Given the description of an element on the screen output the (x, y) to click on. 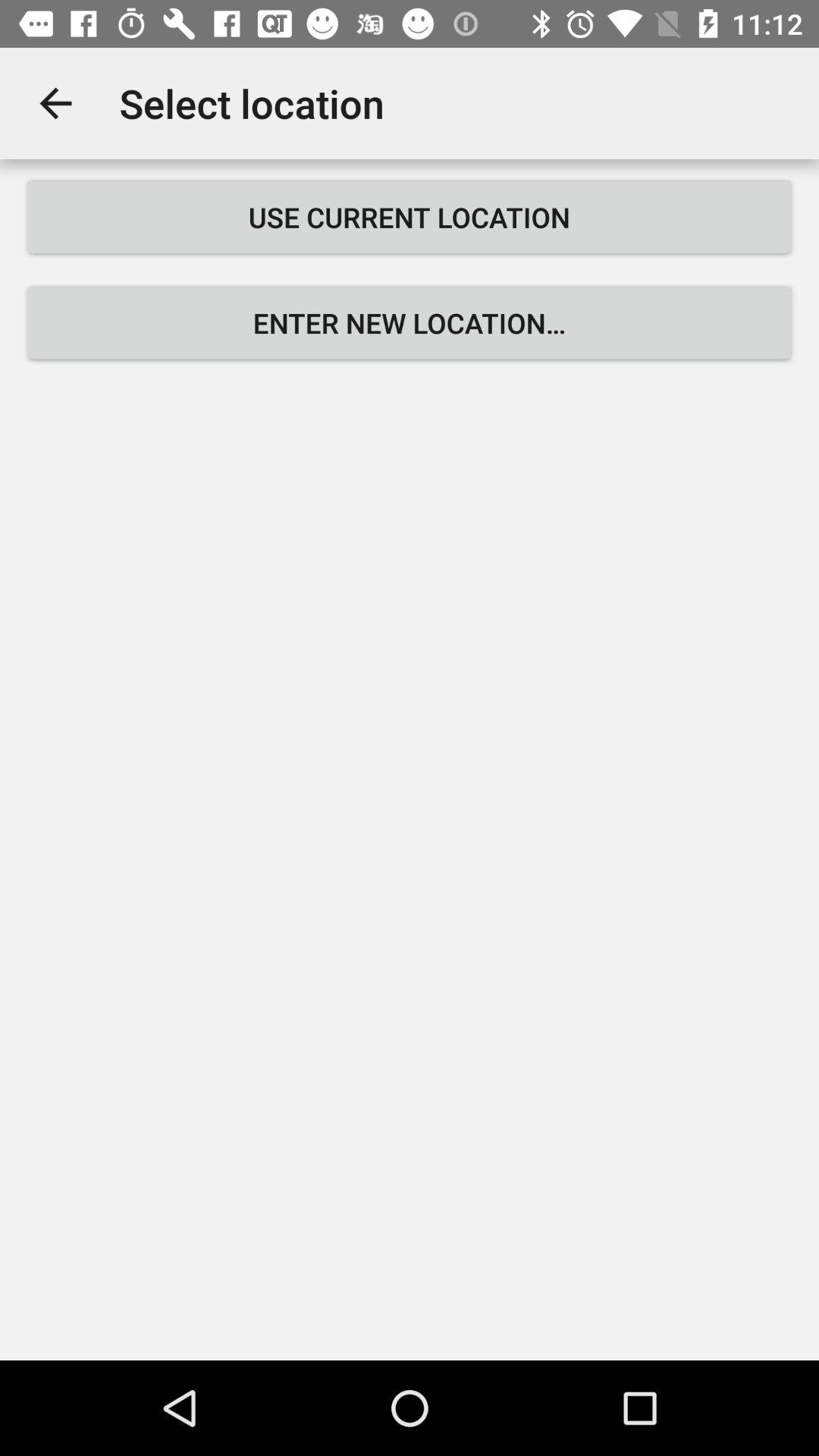
turn on the item to the left of select location app (55, 103)
